Given the description of an element on the screen output the (x, y) to click on. 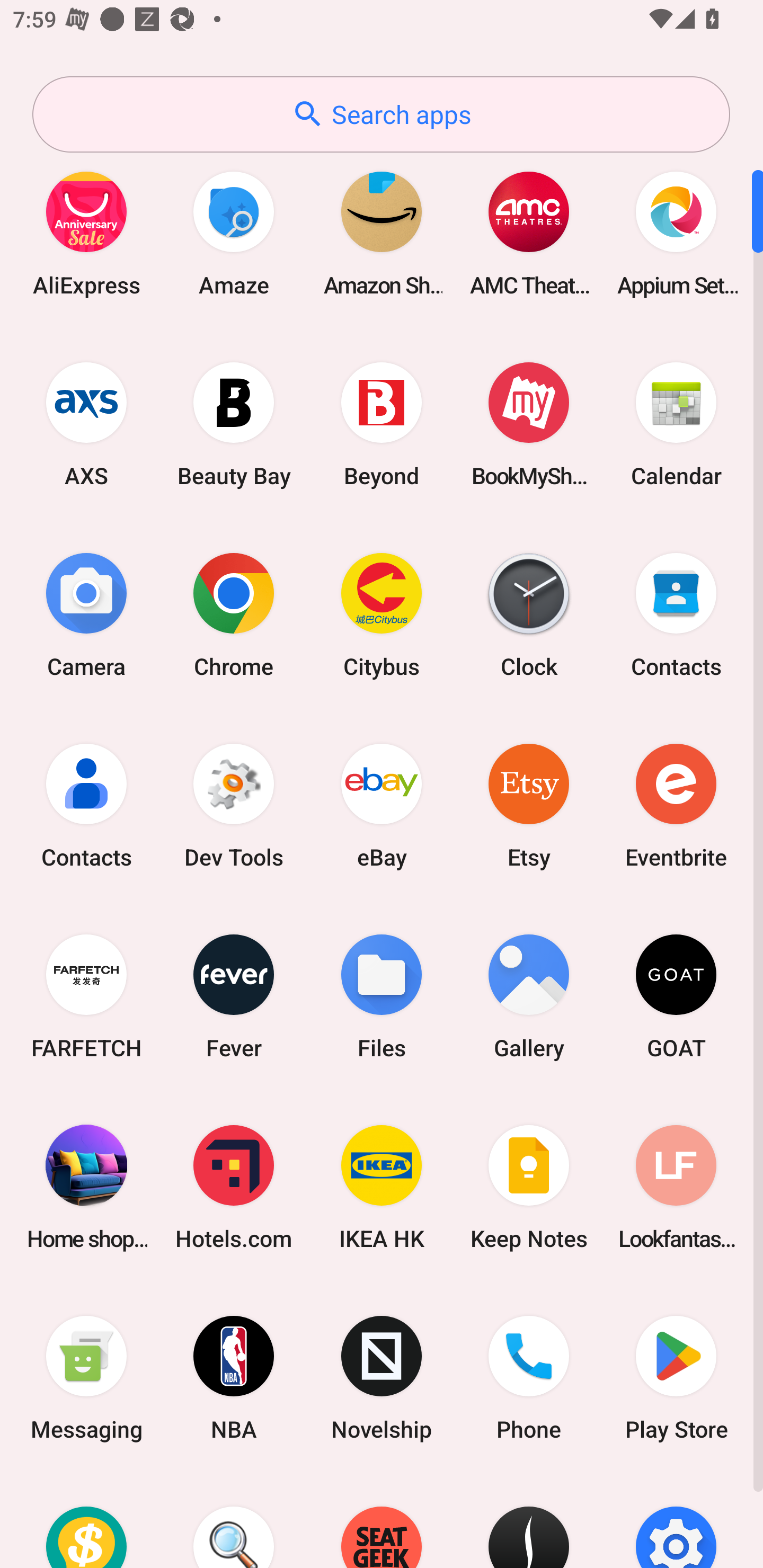
  Search apps (381, 114)
AliExpress (86, 233)
Amaze (233, 233)
Amazon Shopping (381, 233)
AMC Theatres (528, 233)
Appium Settings (676, 233)
AXS (86, 424)
Beauty Bay (233, 424)
Beyond (381, 424)
BookMyShow (528, 424)
Calendar (676, 424)
Camera (86, 614)
Chrome (233, 614)
Citybus (381, 614)
Clock (528, 614)
Contacts (676, 614)
Contacts (86, 805)
Dev Tools (233, 805)
eBay (381, 805)
Etsy (528, 805)
Eventbrite (676, 805)
FARFETCH (86, 996)
Fever (233, 996)
Files (381, 996)
Gallery (528, 996)
GOAT (676, 996)
Home shopping (86, 1186)
Hotels.com (233, 1186)
IKEA HK (381, 1186)
Keep Notes (528, 1186)
Lookfantastic (676, 1186)
Messaging (86, 1377)
NBA (233, 1377)
Novelship (381, 1377)
Phone (528, 1377)
Play Store (676, 1377)
